Given the description of an element on the screen output the (x, y) to click on. 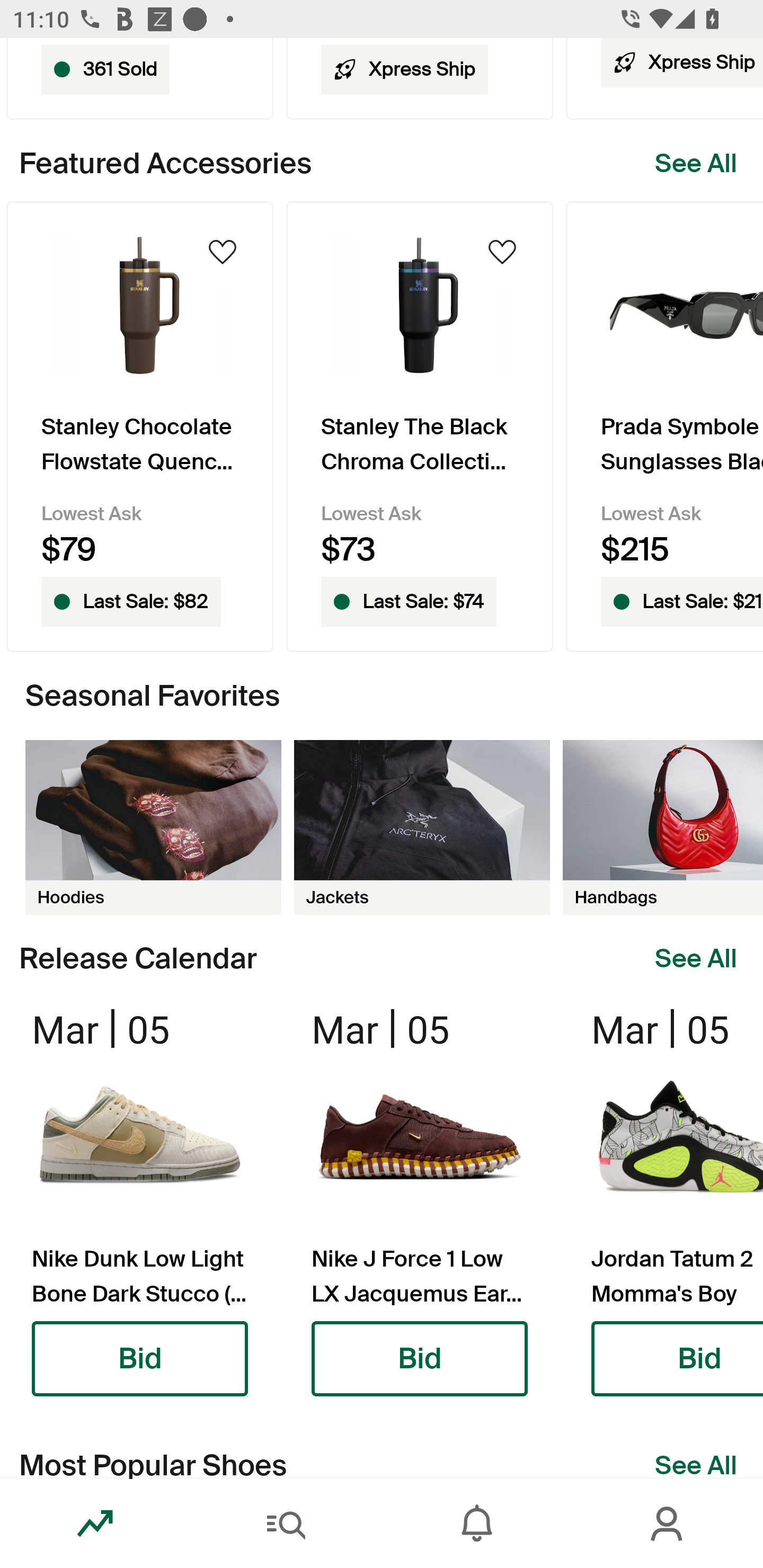
361 Sold (139, 78)
Xpress Ship (419, 78)
Xpress Ship (664, 78)
See All (695, 163)
hoodies.jpg (153, 827)
jackets.jpg (421, 827)
handbags.jpg (663, 827)
See All (695, 958)
Bid (139, 1359)
Bid (419, 1359)
Bid (677, 1359)
See All (695, 1463)
Search (285, 1523)
Inbox (476, 1523)
Account (667, 1523)
